Given the description of an element on the screen output the (x, y) to click on. 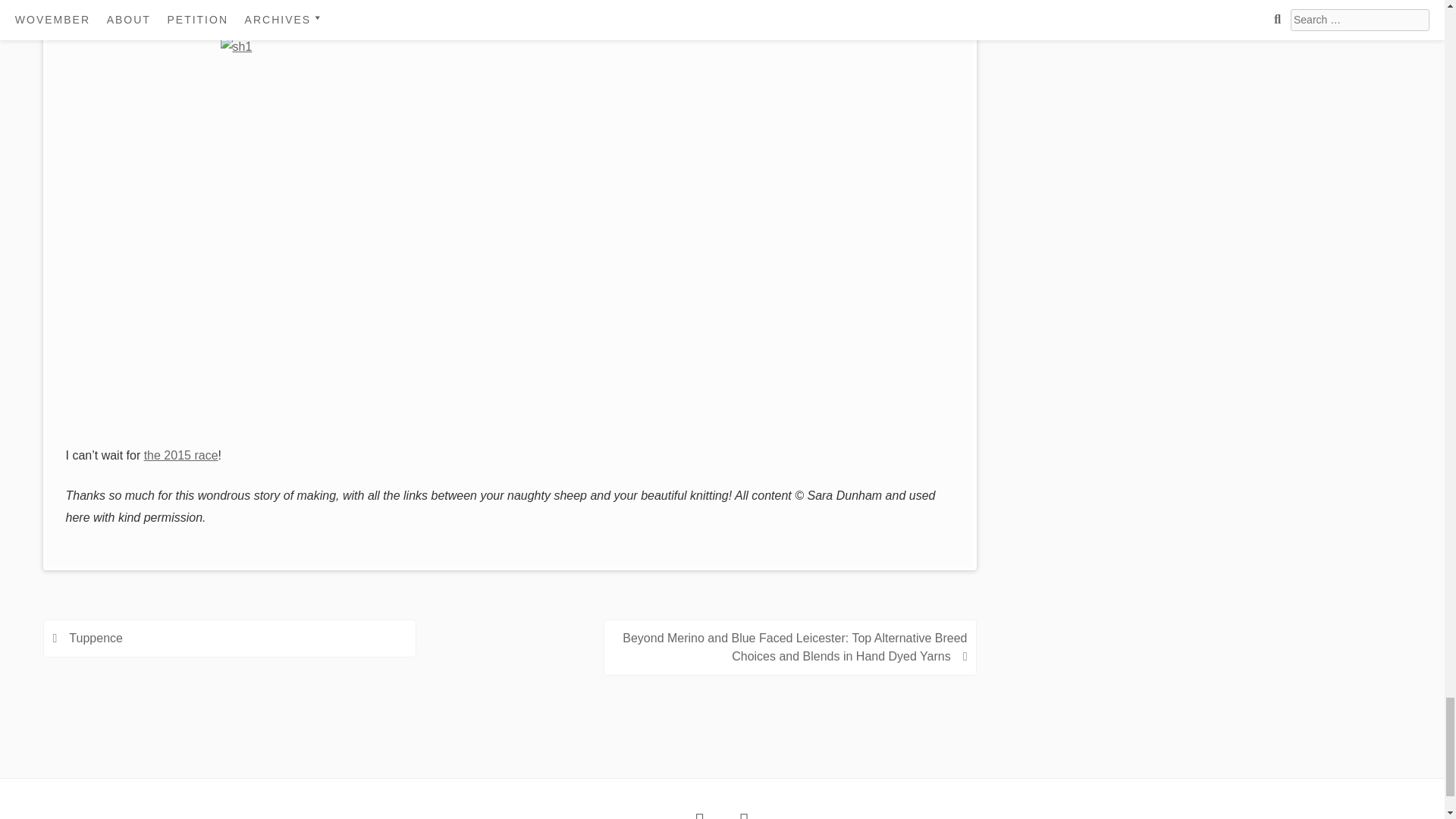
The 2015 race (181, 454)
the 2015 race (181, 454)
Tuppence (95, 637)
